Given the description of an element on the screen output the (x, y) to click on. 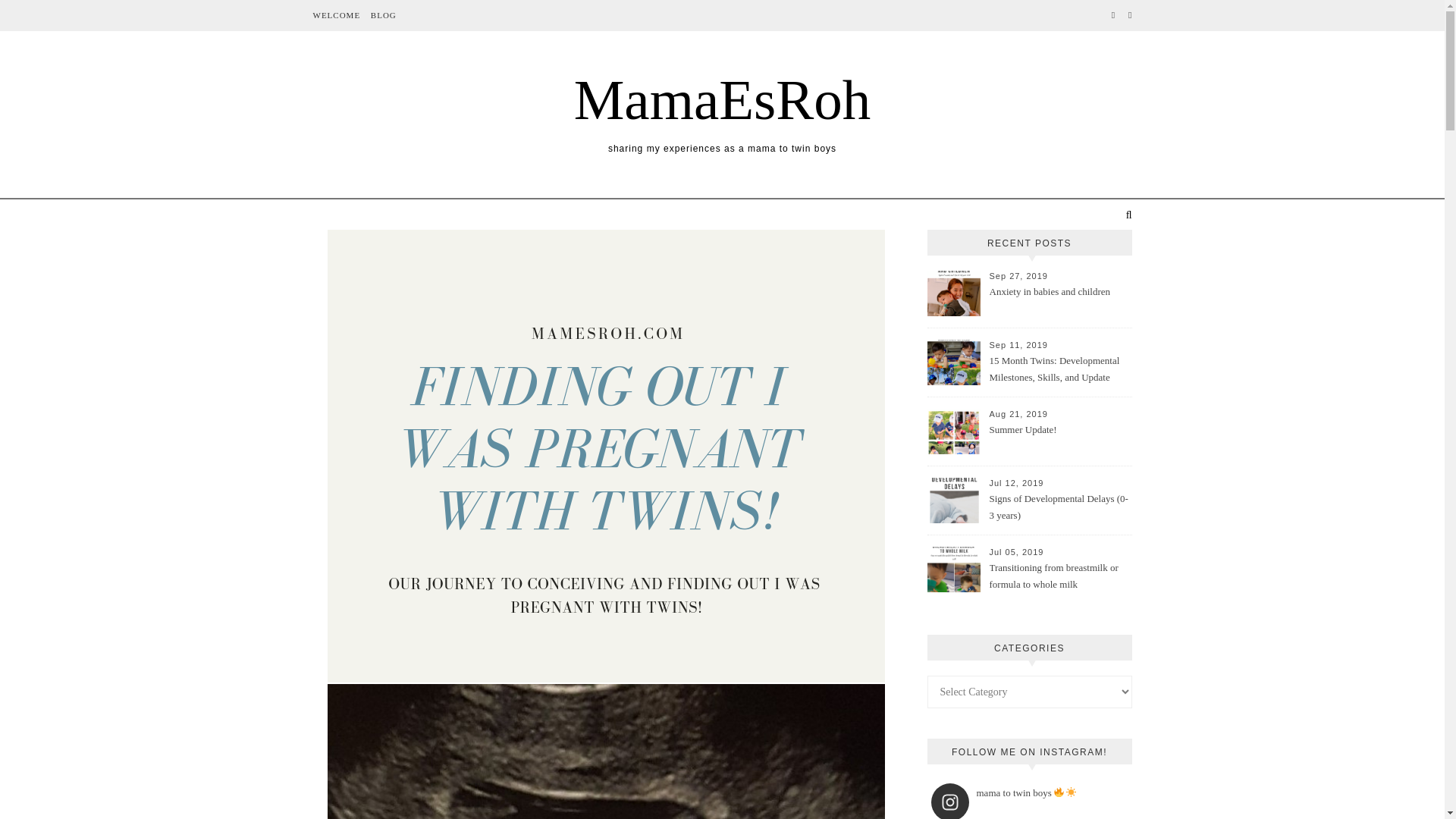
WELCOME (338, 15)
MamaEsRoh (721, 99)
Transitioning from breastmilk or formula to whole milk (1058, 576)
mama to twin boys (1023, 800)
Summer Update! (1058, 438)
Anxiety in babies and children (1058, 300)
15 Month Twins: Developmental Milestones, Skills, and Update (1058, 369)
BLOG (381, 15)
